Given the description of an element on the screen output the (x, y) to click on. 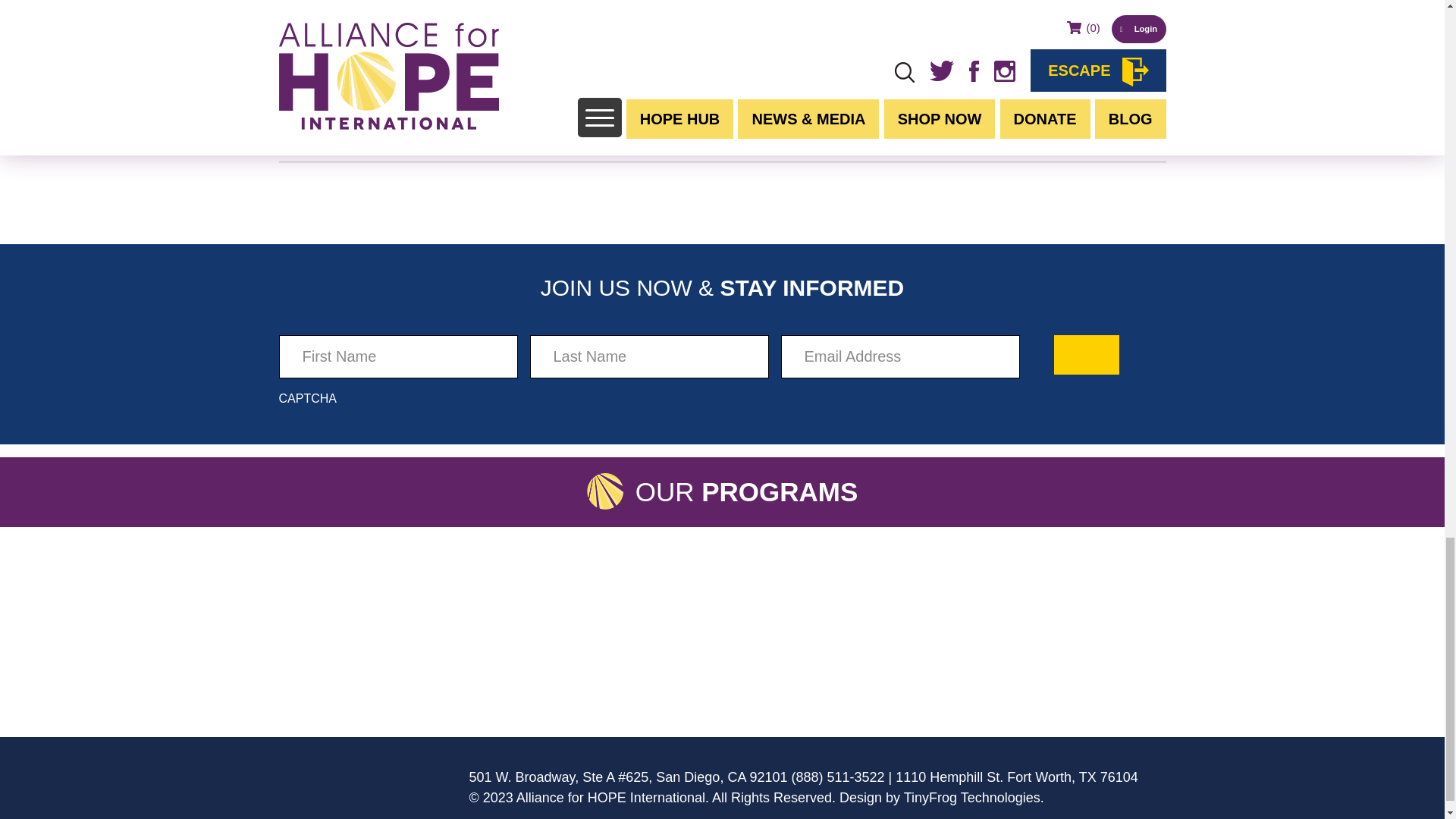
Pin on Pinterest (385, 147)
Share on Linkedin (416, 147)
Submit (1086, 354)
Share on Twitter (401, 147)
Share on Facebook (371, 147)
